Given the description of an element on the screen output the (x, y) to click on. 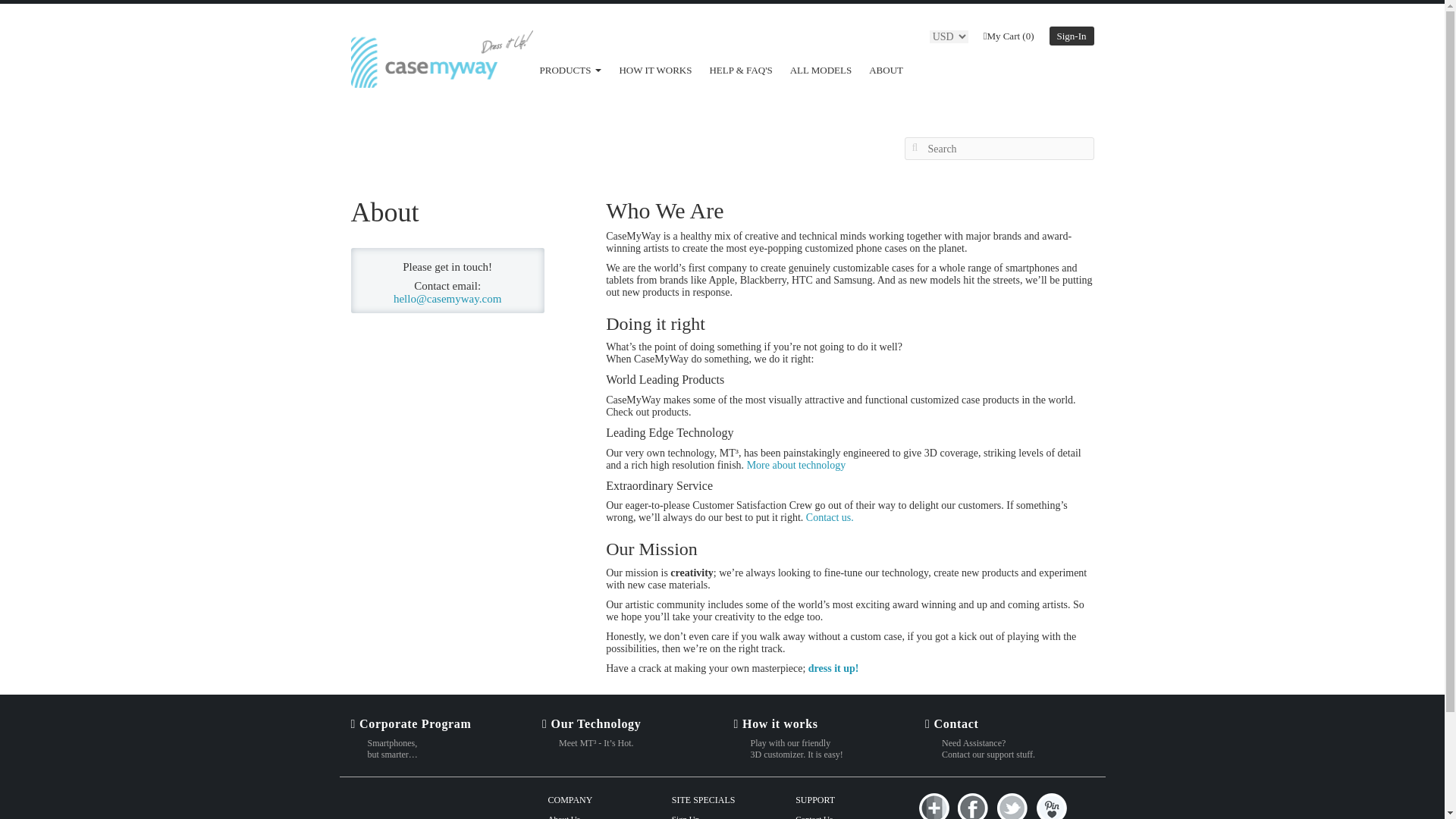
Follow us on Twitter (1013, 805)
Follow us on Facebook (975, 805)
Create My Case - CaseMyWay (833, 668)
PRODUCTS (570, 69)
Follow us on Pinterest (1051, 805)
